Given the description of an element on the screen output the (x, y) to click on. 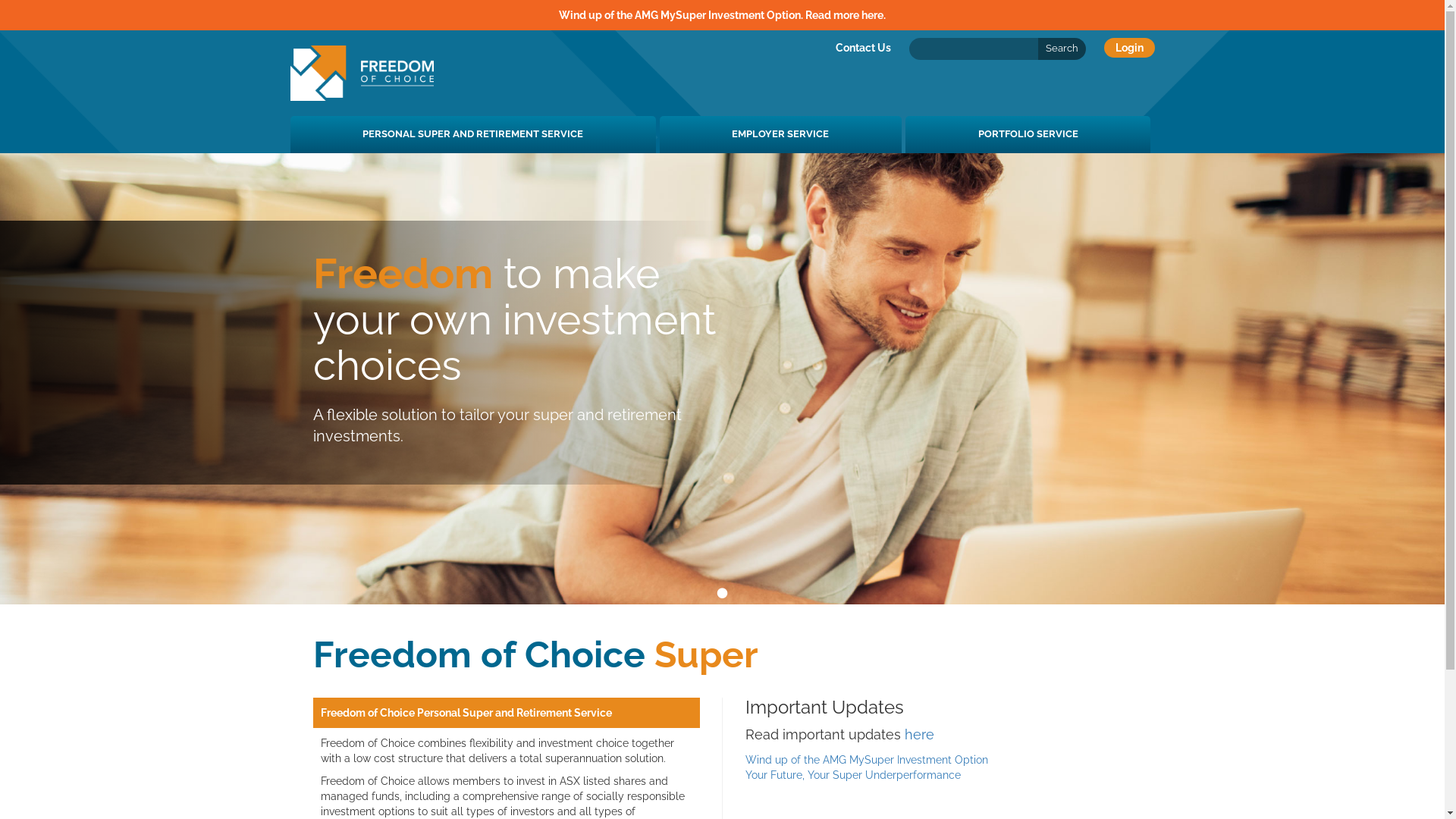
Contact Us Element type: text (863, 47)
Freedom of Choice Personal Super and Retirement Service Element type: text (465, 712)
PERSONAL SUPER AND RETIREMENT SERVICE Element type: text (472, 134)
Login Element type: text (1129, 47)
PORTFOLIO SERVICE Element type: text (1027, 134)
EMPLOYER SERVICE Element type: text (780, 134)
Wind up of the AMG MySuper Investment Option Element type: text (865, 759)
here Element type: text (872, 15)
Search Element type: text (1061, 48)
Your Future, Your Super Underperformance Element type: text (852, 774)
here Element type: text (918, 734)
